Given the description of an element on the screen output the (x, y) to click on. 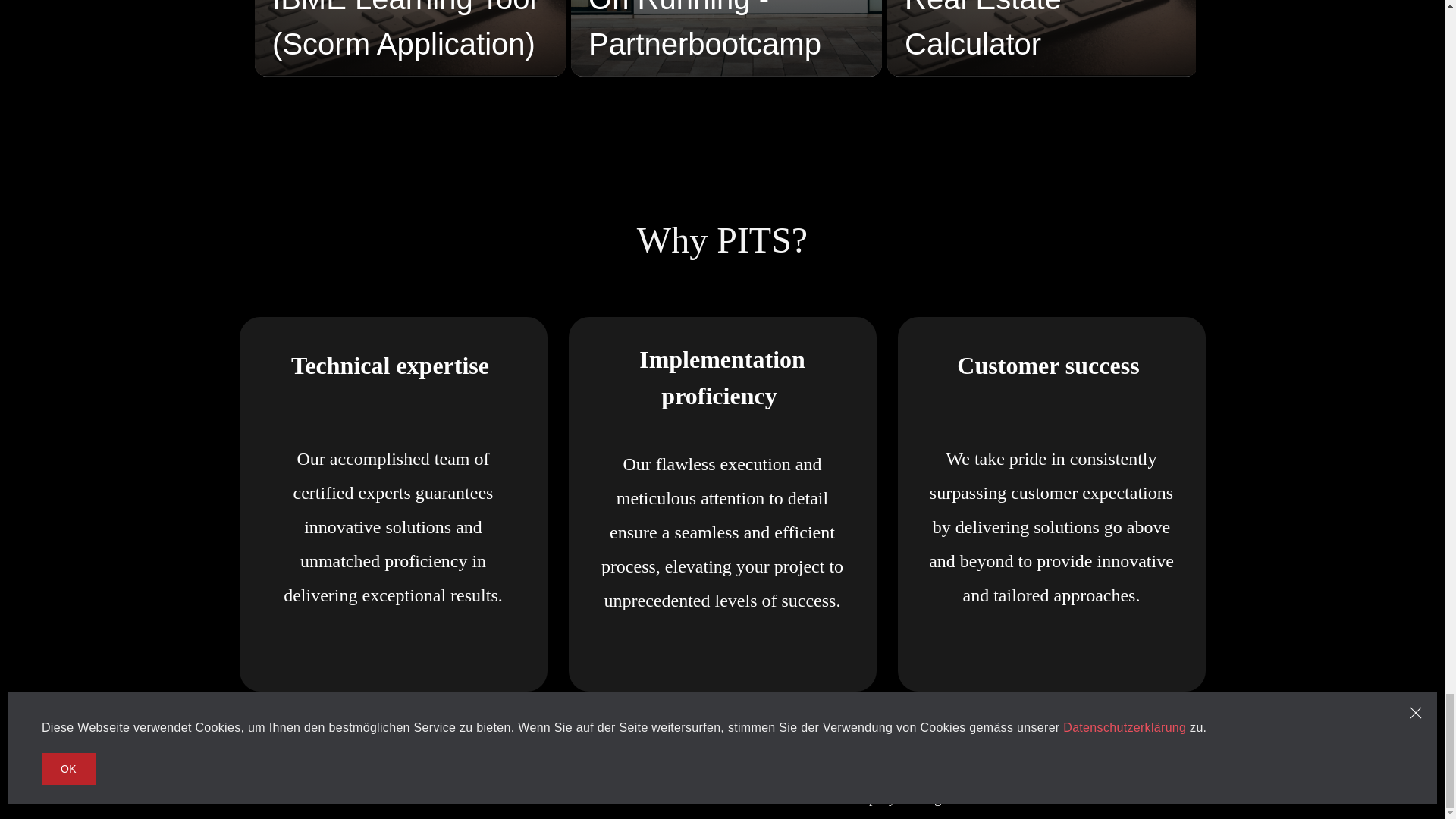
Real Estate Calculator (1042, 39)
On Running - Partnerbootcamp (726, 39)
